Given the description of an element on the screen output the (x, y) to click on. 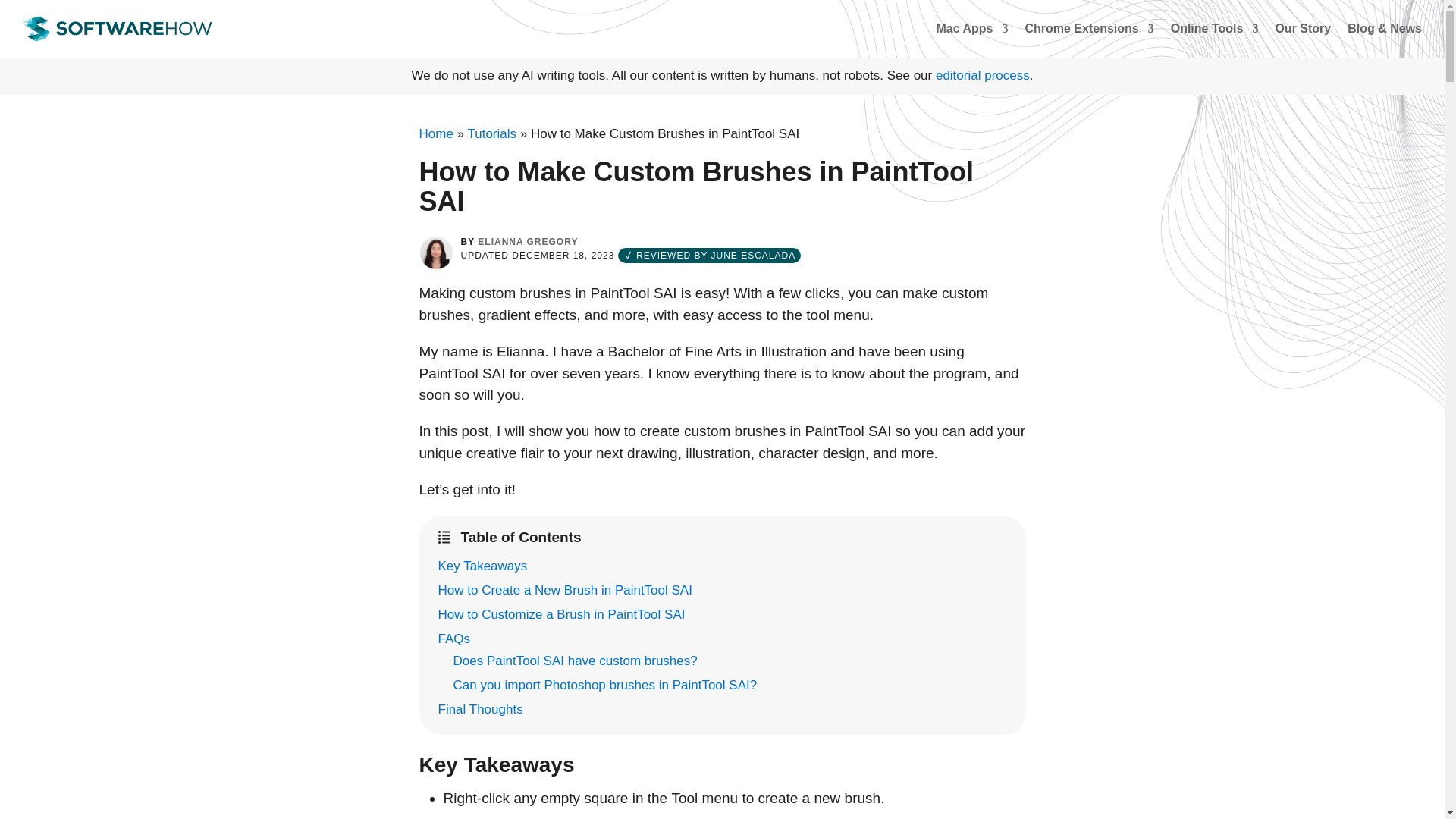
ELIANNA GREGORY (527, 241)
Tutorials (491, 133)
Our Story (1302, 28)
FAQs (454, 638)
How to Customize a Brush in PaintTool SAI  (563, 614)
Can you import Photoshop brushes in PaintTool SAI?  (606, 685)
editorial process (982, 74)
How to Create a New Brush in PaintTool SAI  (566, 590)
JUNE ESCALADA (753, 255)
Mac Apps (971, 28)
Final Thoughts (480, 708)
Home (435, 133)
Chrome Extensions (1089, 28)
Online Tools (1214, 28)
Key Takeaways (482, 565)
